Given the description of an element on the screen output the (x, y) to click on. 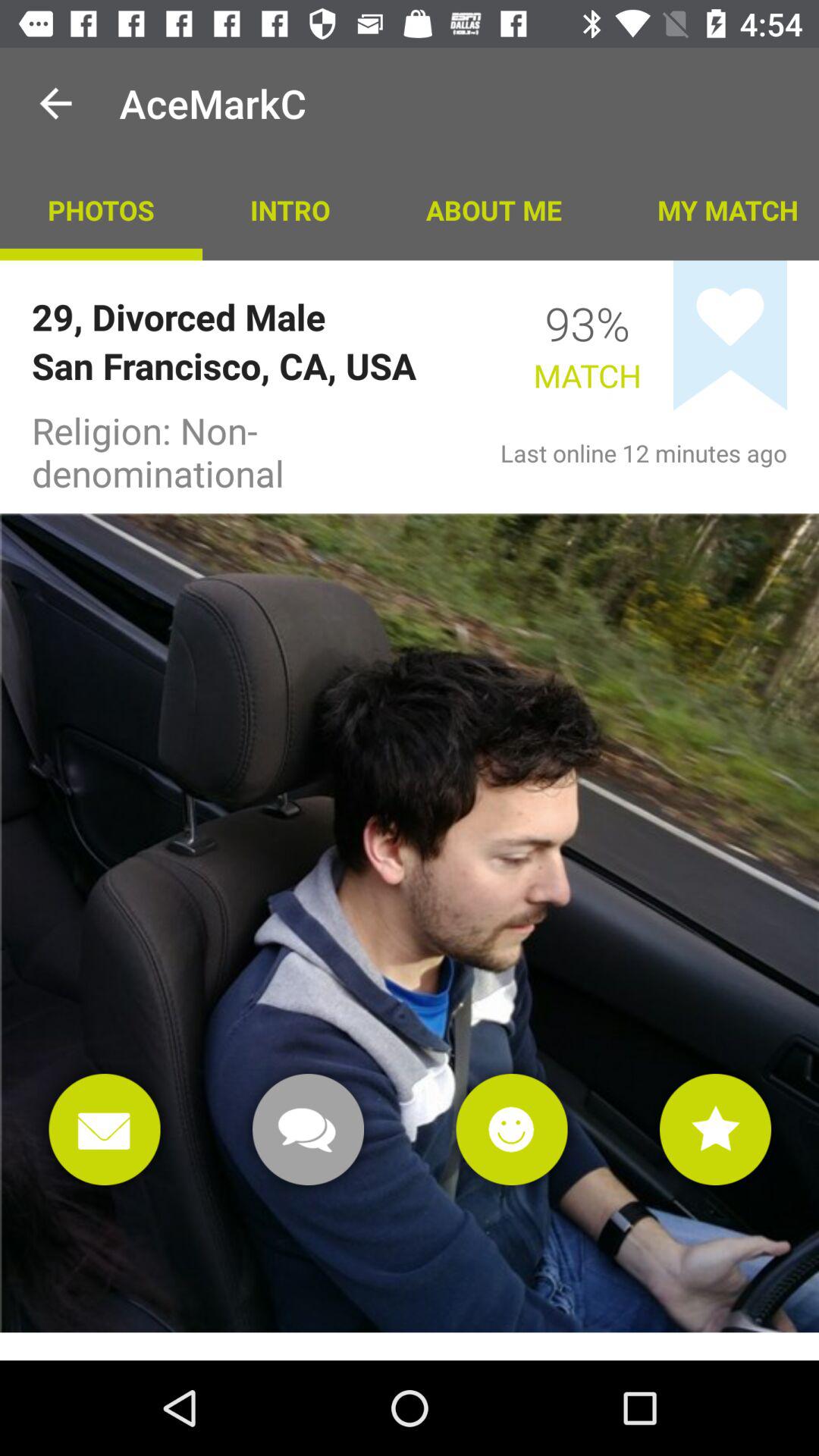
open mail (104, 1129)
